Given the description of an element on the screen output the (x, y) to click on. 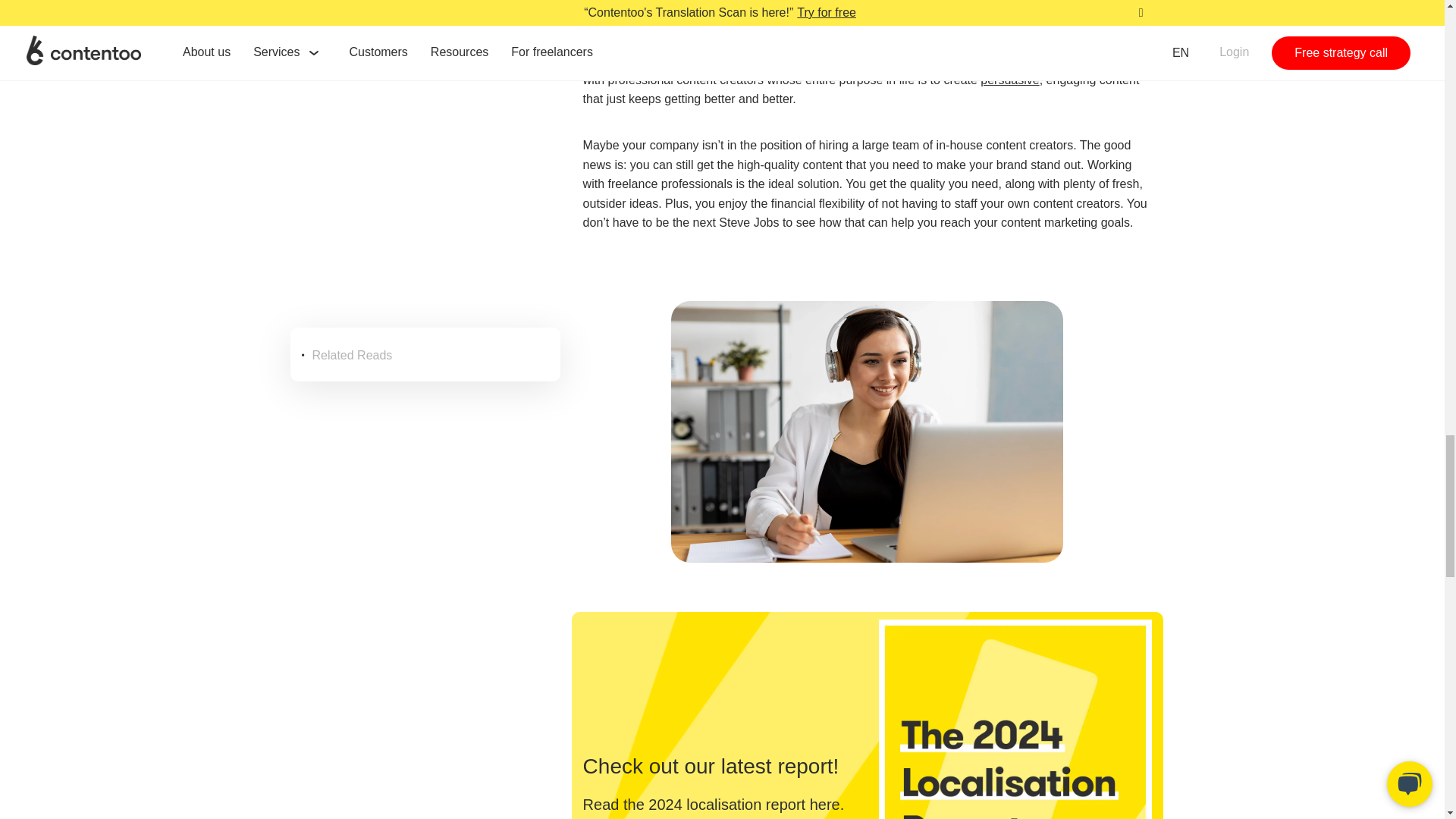
persuasive (1009, 79)
